Given the description of an element on the screen output the (x, y) to click on. 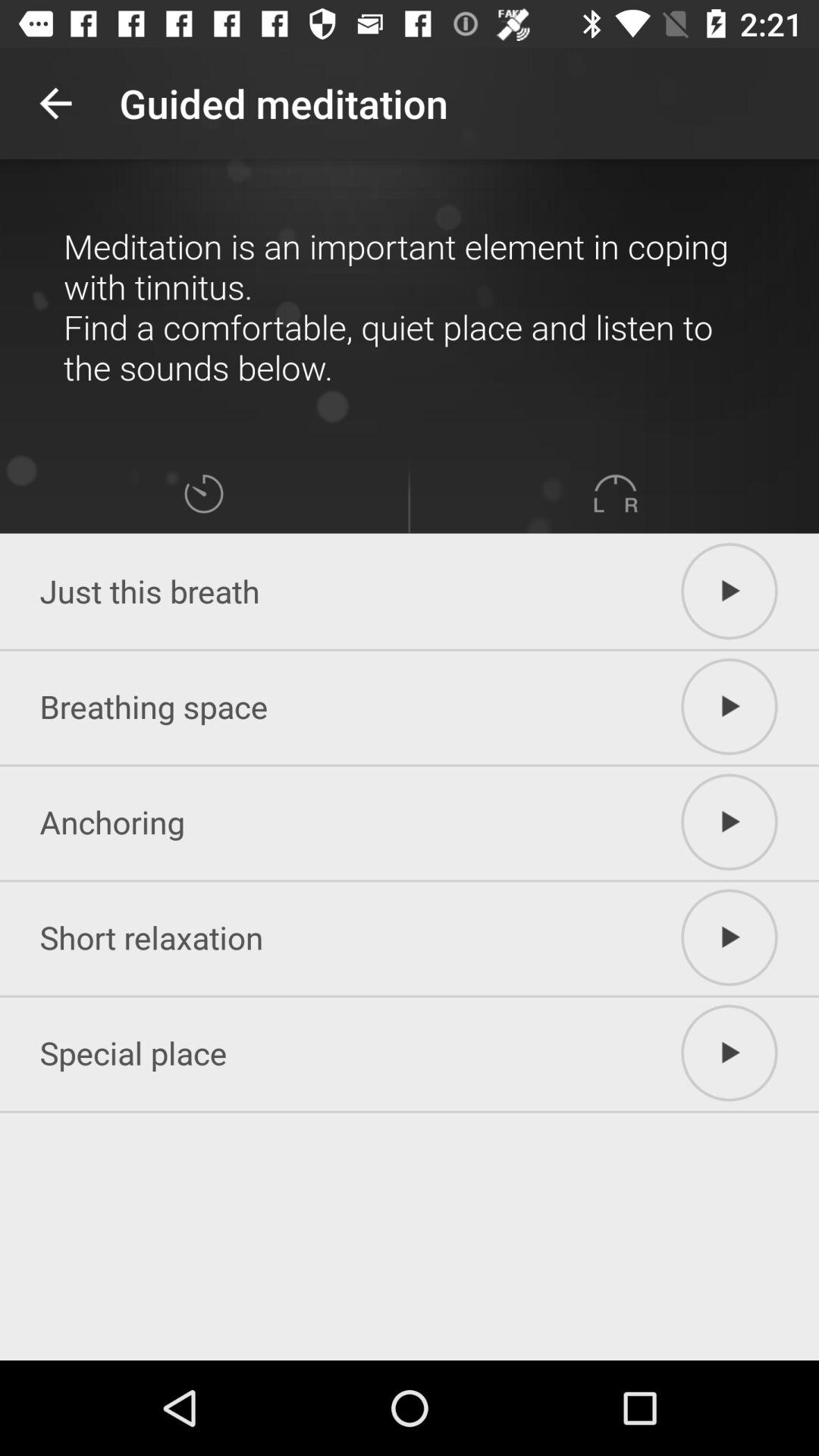
turn off icon above the meditation is an item (55, 103)
